Given the description of an element on the screen output the (x, y) to click on. 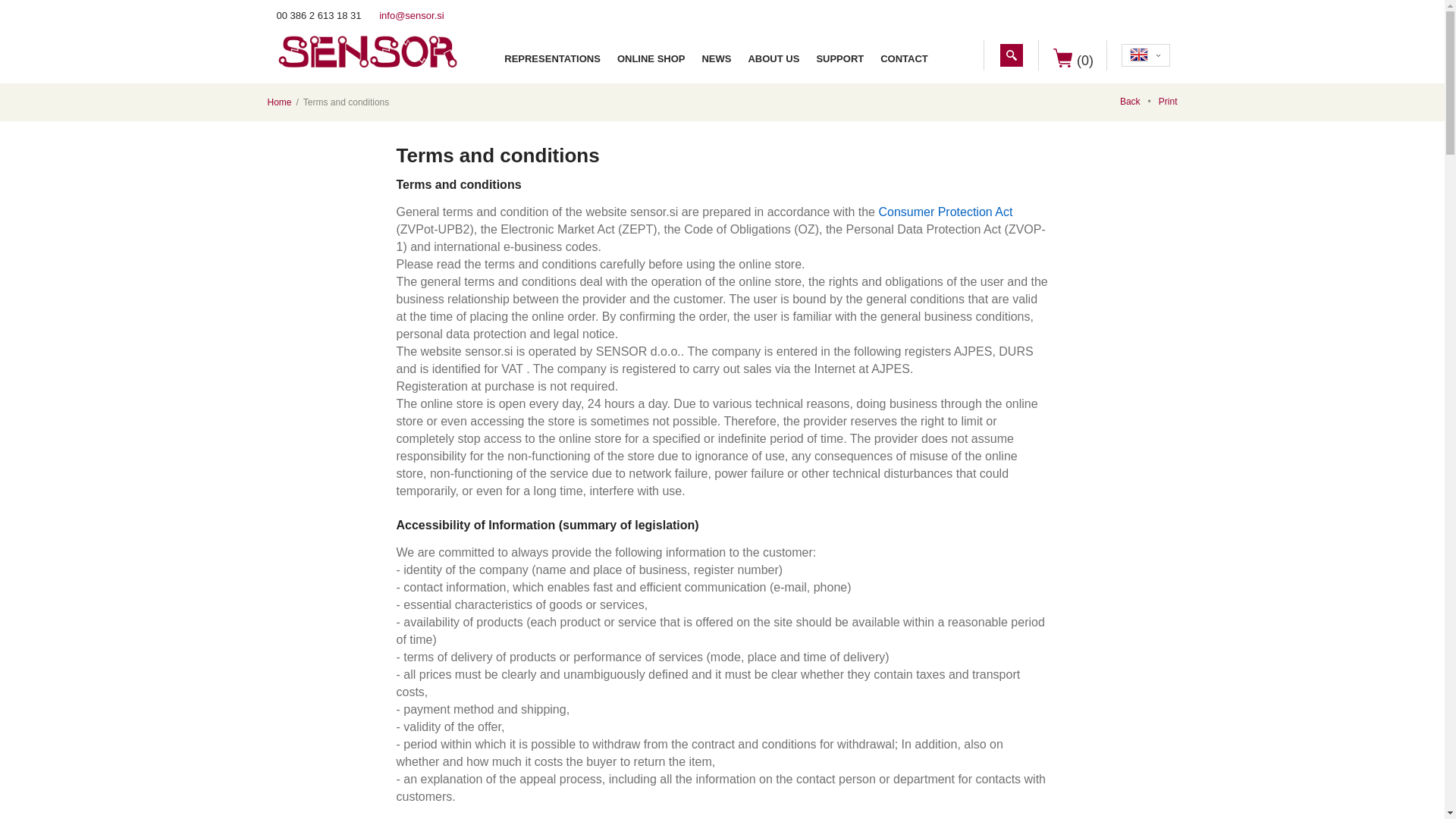
SUPPORT (839, 58)
Home (278, 102)
Back (1138, 101)
Back (1138, 101)
ABOUT US (772, 58)
Home (278, 102)
NEWS (716, 58)
English (1138, 54)
Terms and conditions (345, 102)
Terms and conditions (345, 102)
REPRESENTATIONS (552, 58)
ONLINE SHOP (651, 58)
Print (1167, 101)
CONTACT (904, 58)
